Given the description of an element on the screen output the (x, y) to click on. 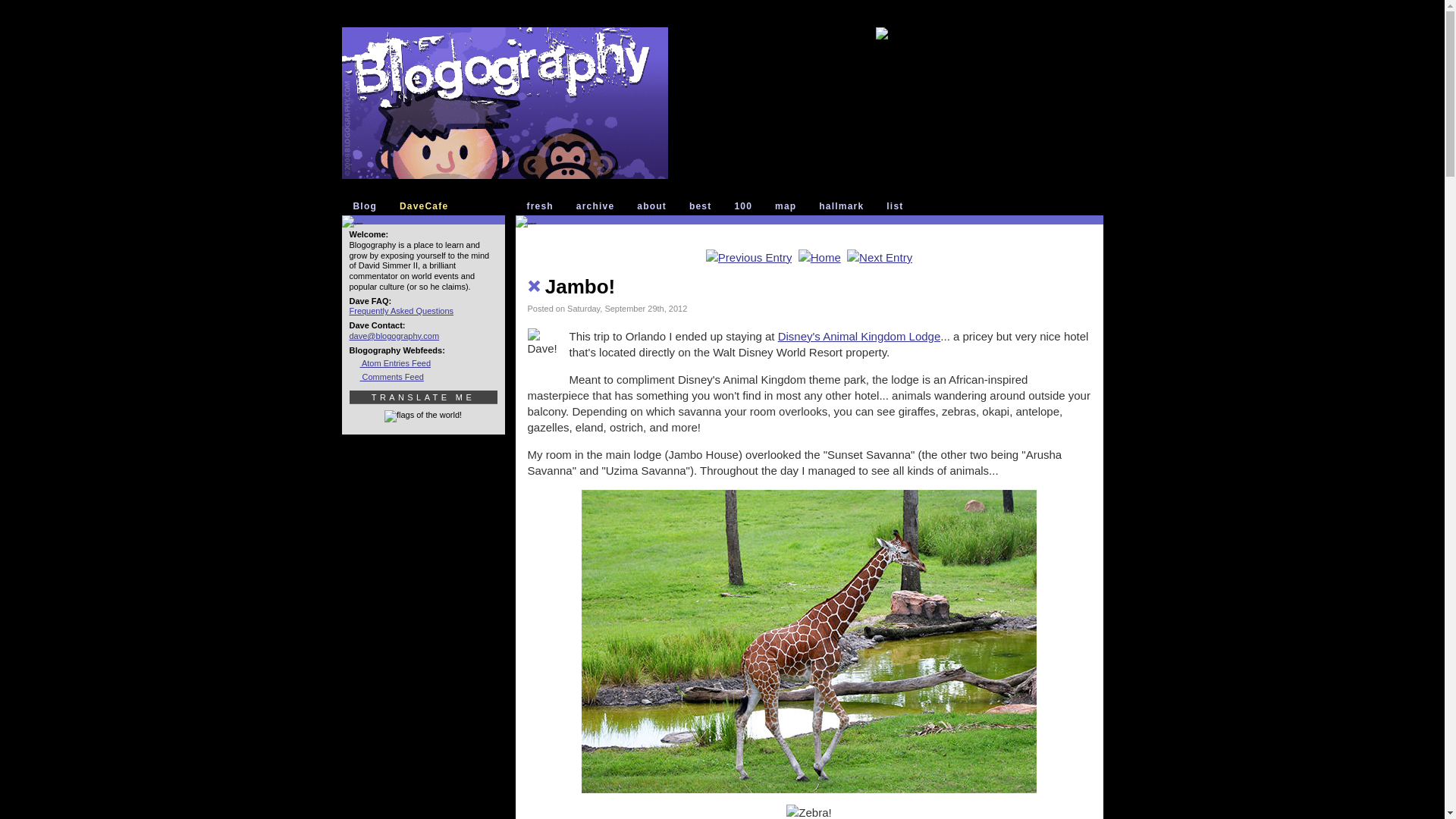
fresh (542, 206)
about (654, 206)
100 (745, 206)
best (703, 206)
archive (599, 206)
map (789, 206)
